Given the description of an element on the screen output the (x, y) to click on. 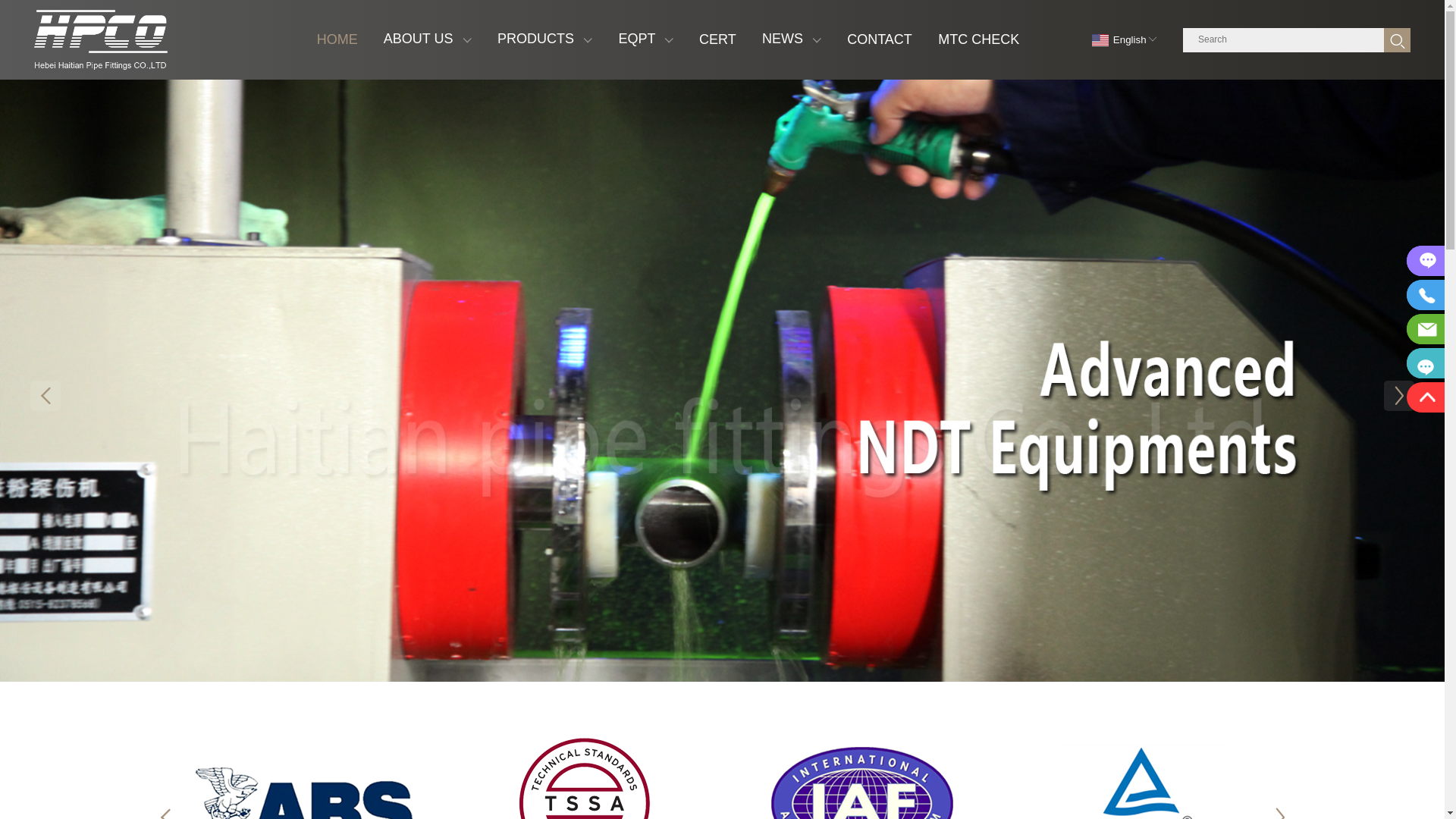
EQPT Element type: text (645, 39)
English Element type: text (1122, 39)
ABOUT US Element type: text (427, 39)
MTC CHECK Element type: text (978, 39)
CONTACT Element type: text (879, 39)
NEWS Element type: text (791, 39)
HOME Element type: text (337, 39)
PRODUCTS Element type: text (544, 39)
CERT Element type: text (717, 39)
